Given the description of an element on the screen output the (x, y) to click on. 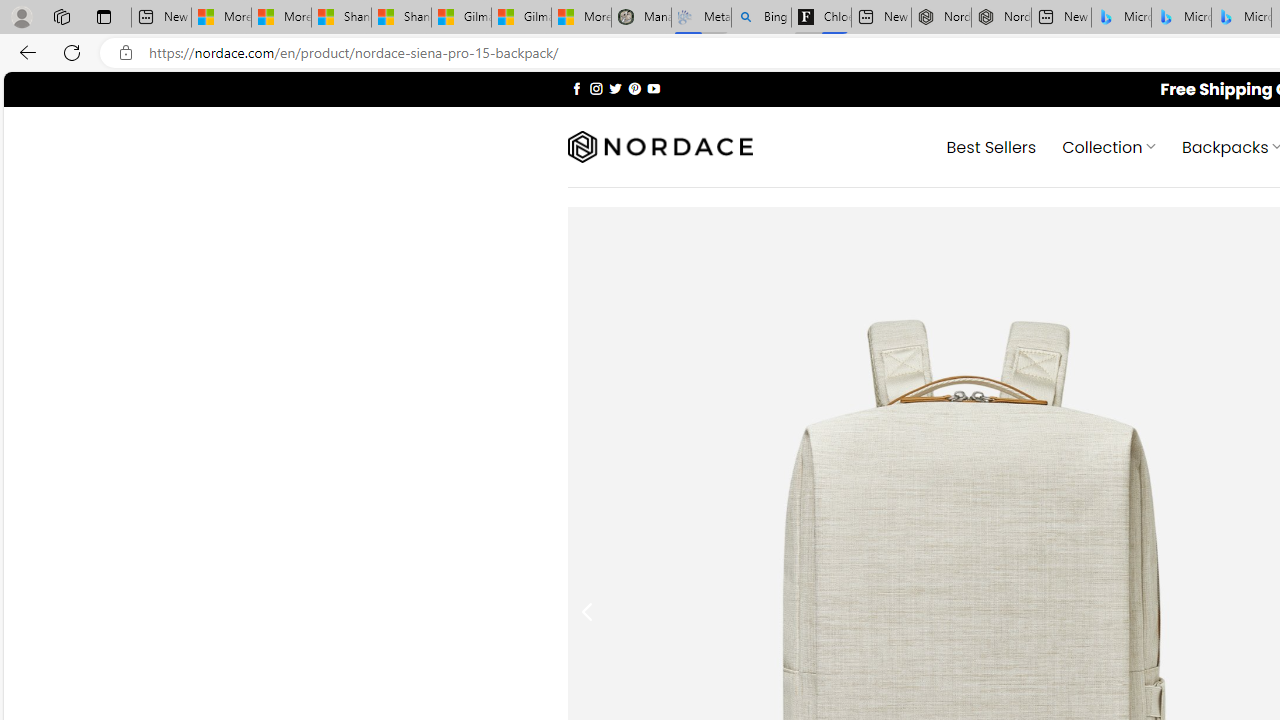
Workspaces (61, 16)
View site information (125, 53)
Gilma and Hector both pose tropical trouble for Hawaii (521, 17)
Microsoft Bing Travel - Stays in Bangkok, Bangkok, Thailand (1181, 17)
Follow on Facebook (576, 88)
Bing Real Estate - Home sales and rental listings (761, 17)
Manatee Mortality Statistics | FWC (640, 17)
Nordace (659, 147)
Microsoft Bing Travel - Shangri-La Hotel Bangkok (1241, 17)
